Given the description of an element on the screen output the (x, y) to click on. 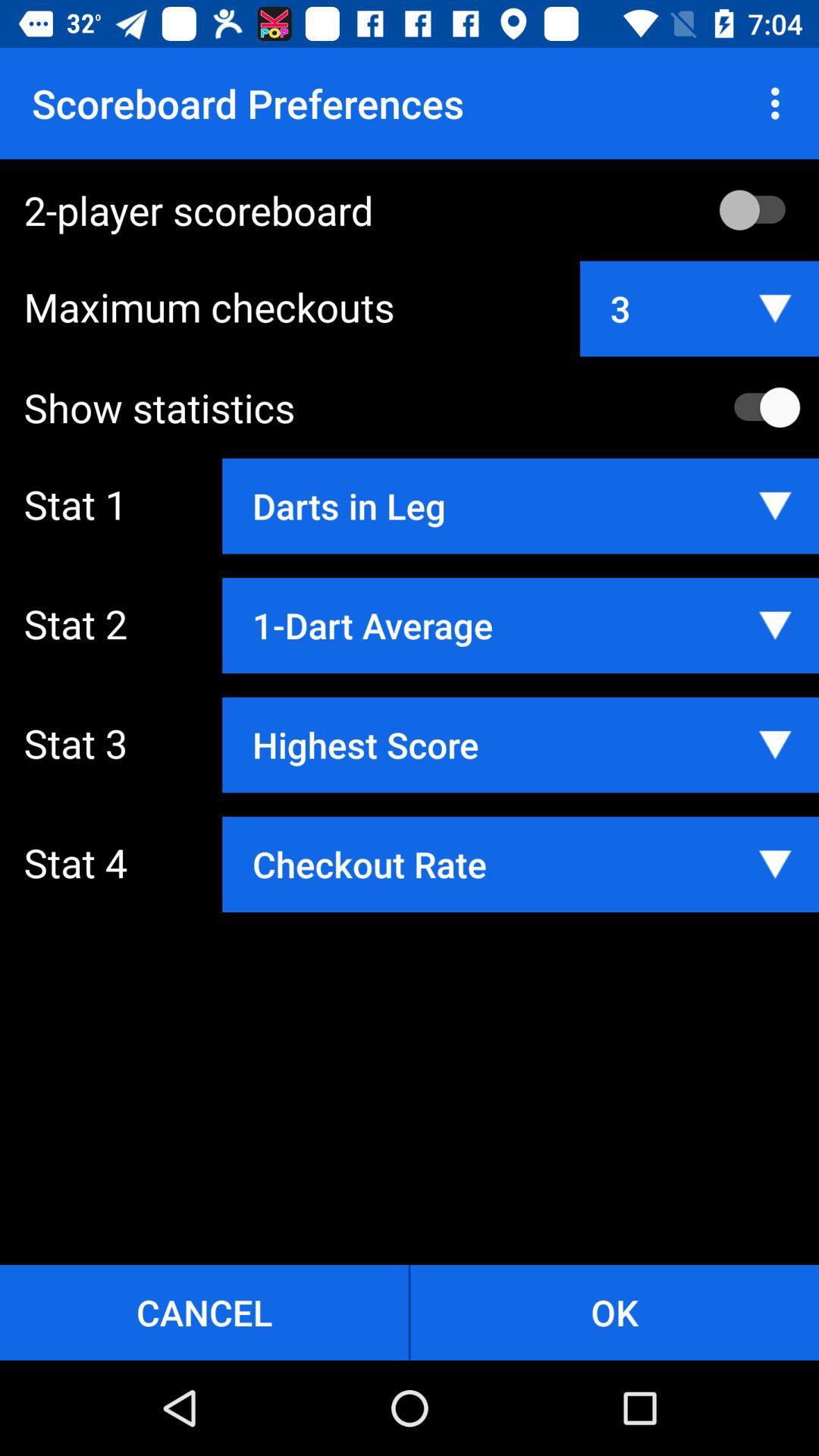
scroll to show statistics icon (421, 407)
